Given the description of an element on the screen output the (x, y) to click on. 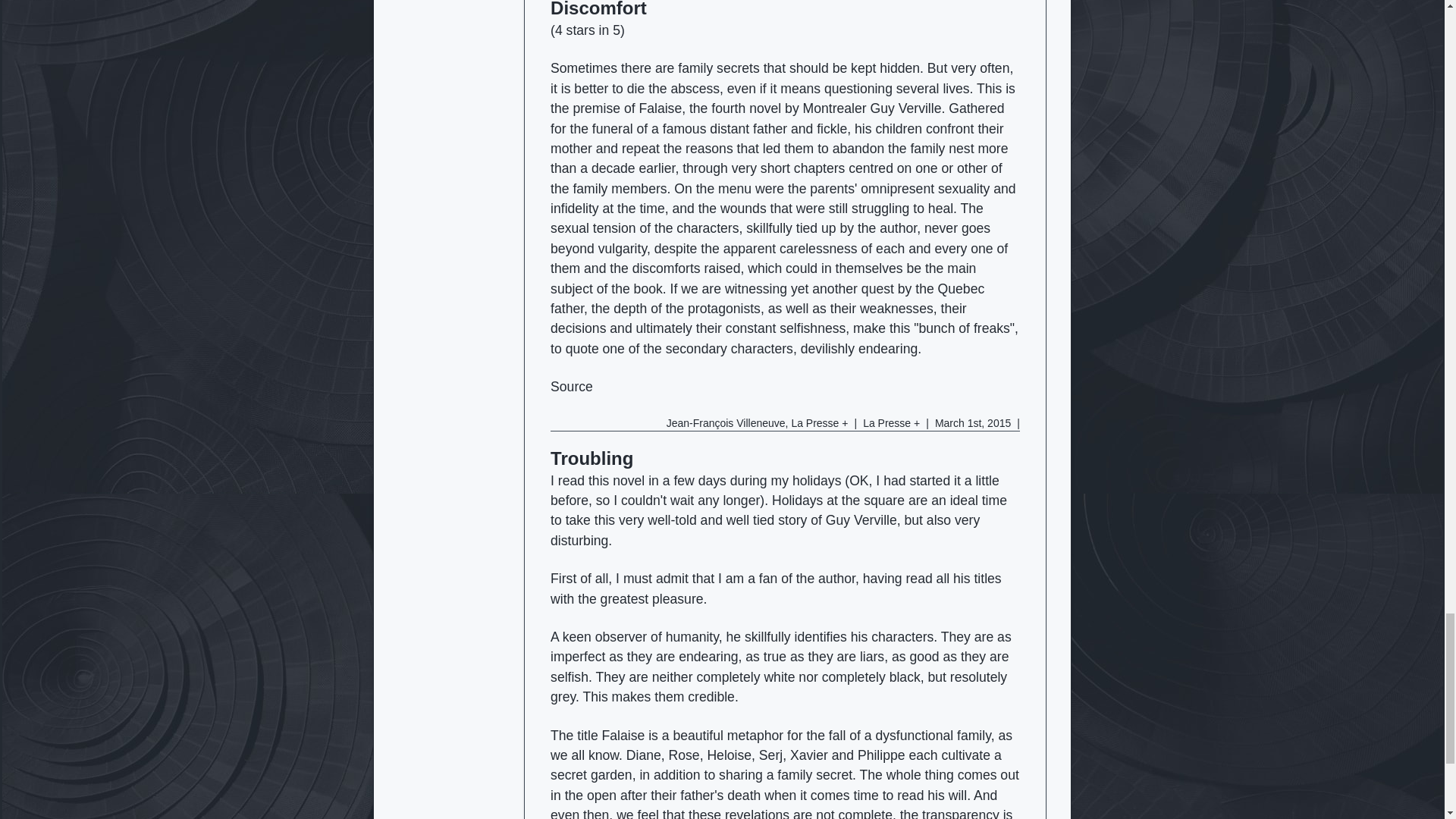
Source (571, 386)
